Given the description of an element on the screen output the (x, y) to click on. 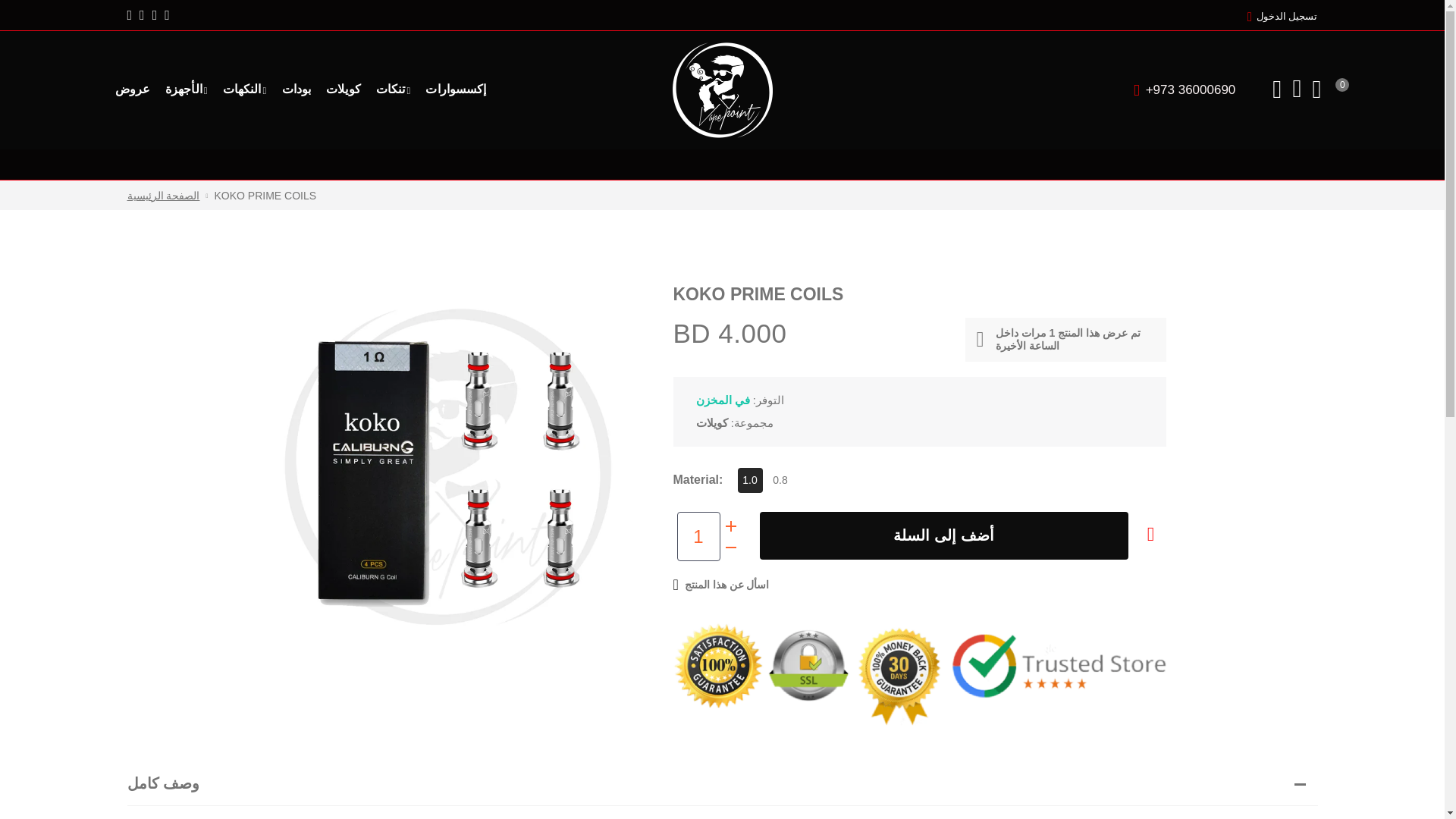
0 (1318, 89)
BD 4.000 (944, 535)
